Given the description of an element on the screen output the (x, y) to click on. 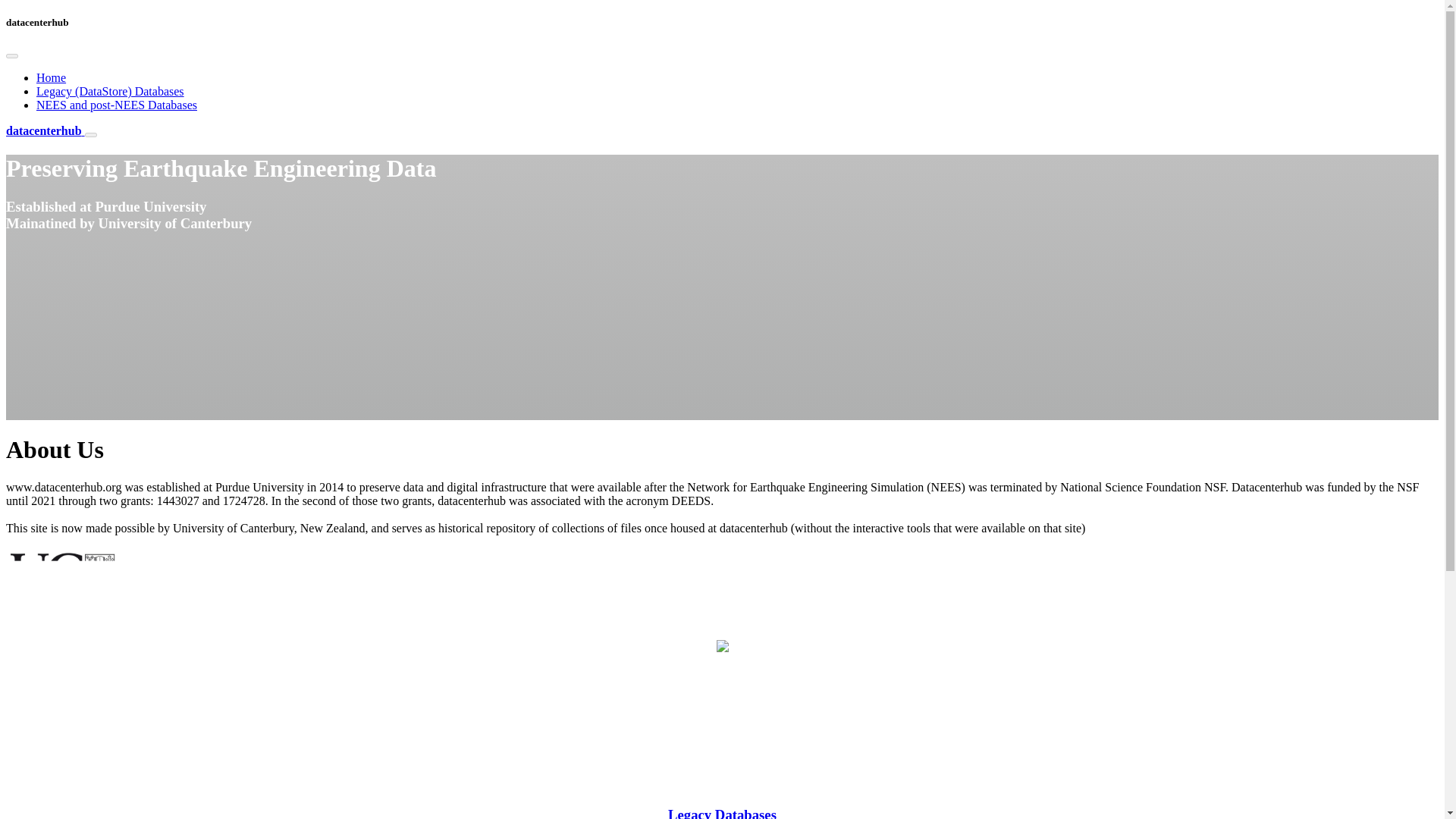
Home (50, 77)
Legacy Databases (722, 812)
NEES and post-NEES Databases (116, 104)
datacenterhub (44, 130)
